Given the description of an element on the screen output the (x, y) to click on. 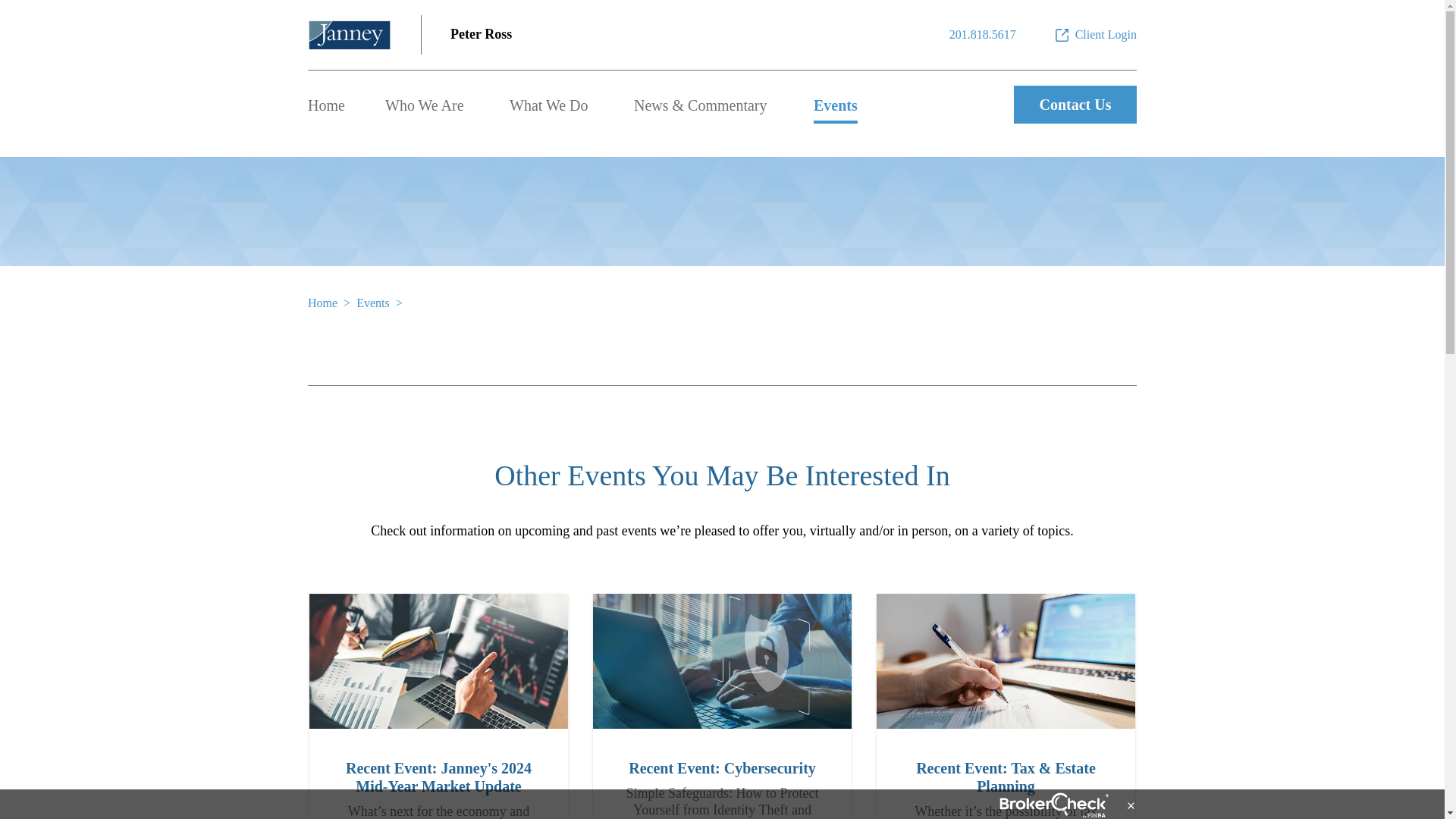
Peter Ross (480, 34)
brokercheck-logo-img (1053, 805)
contact-link (982, 34)
client-login-link (1094, 34)
What We Do (548, 105)
Events (835, 105)
Events (373, 302)
201.818.5617 (982, 34)
Client Login (1094, 34)
Contact Us (1075, 104)
Recent Event: Janney's 2024 Mid-Year Market Update (437, 660)
Home (322, 302)
Home (326, 105)
Recent Event: Cybersecurity (721, 660)
